Given the description of an element on the screen output the (x, y) to click on. 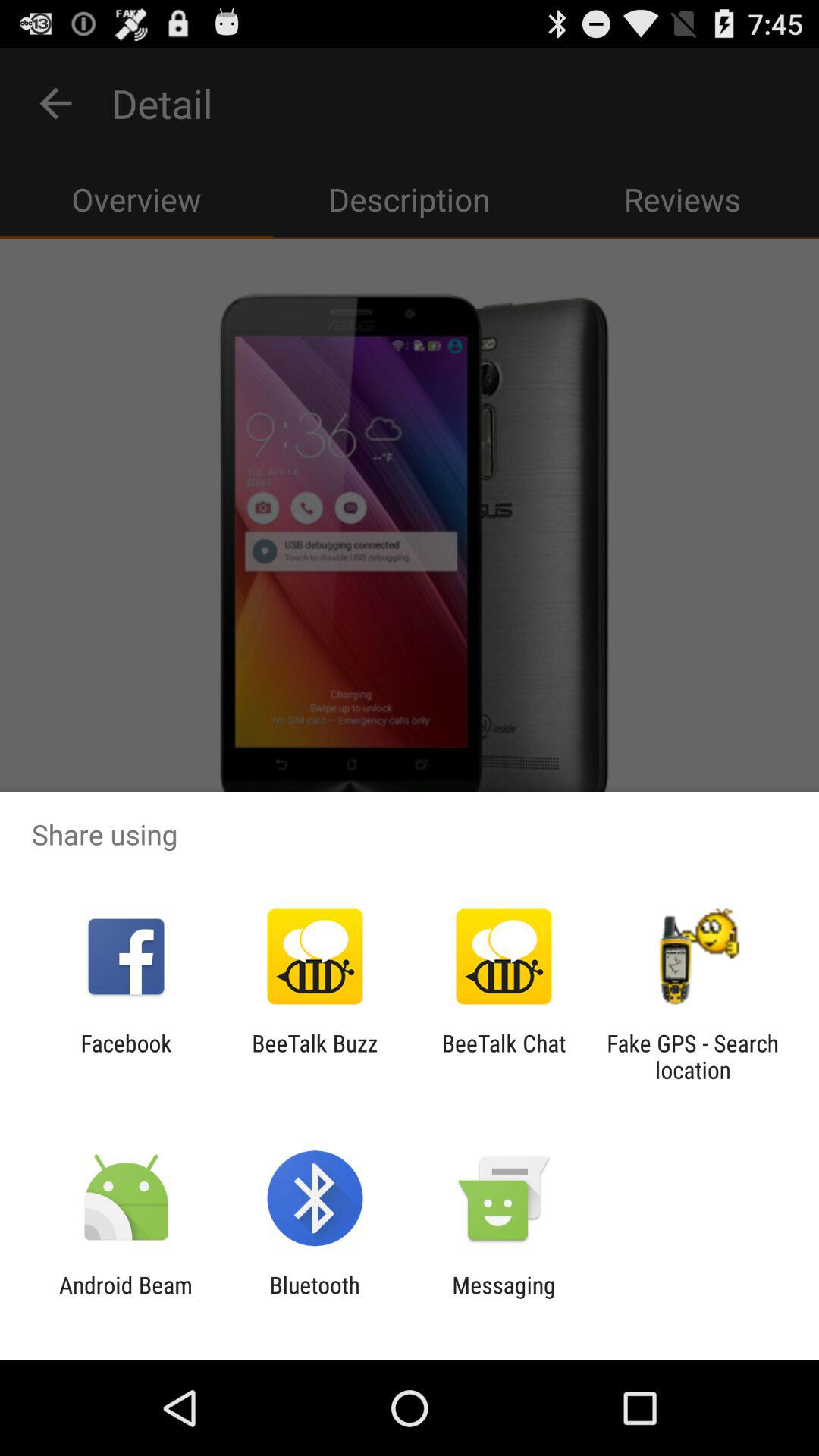
jump to the facebook (125, 1056)
